Given the description of an element on the screen output the (x, y) to click on. 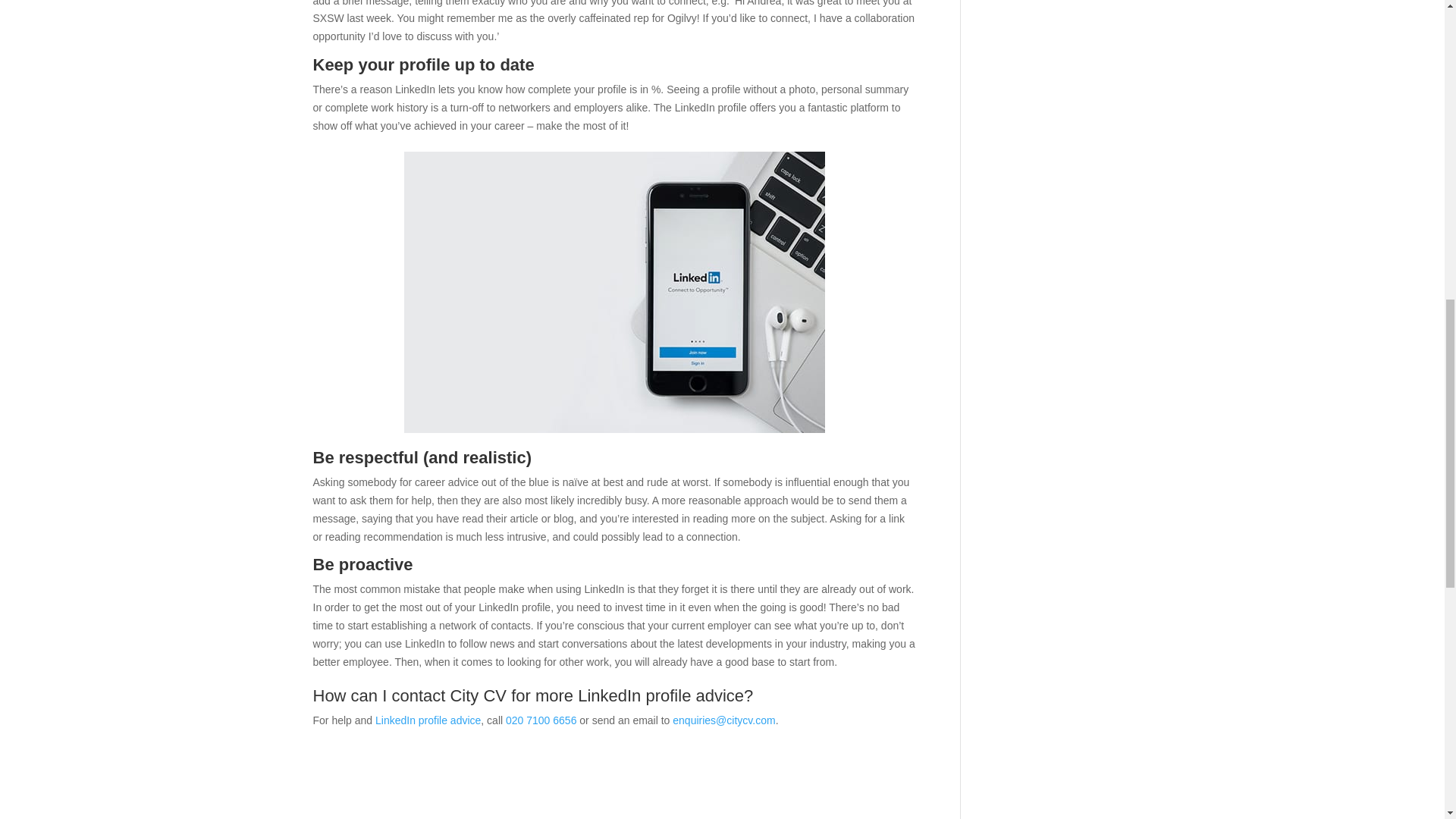
LinkedIn profile advice (427, 720)
LinkedIn (614, 292)
